Given the description of an element on the screen output the (x, y) to click on. 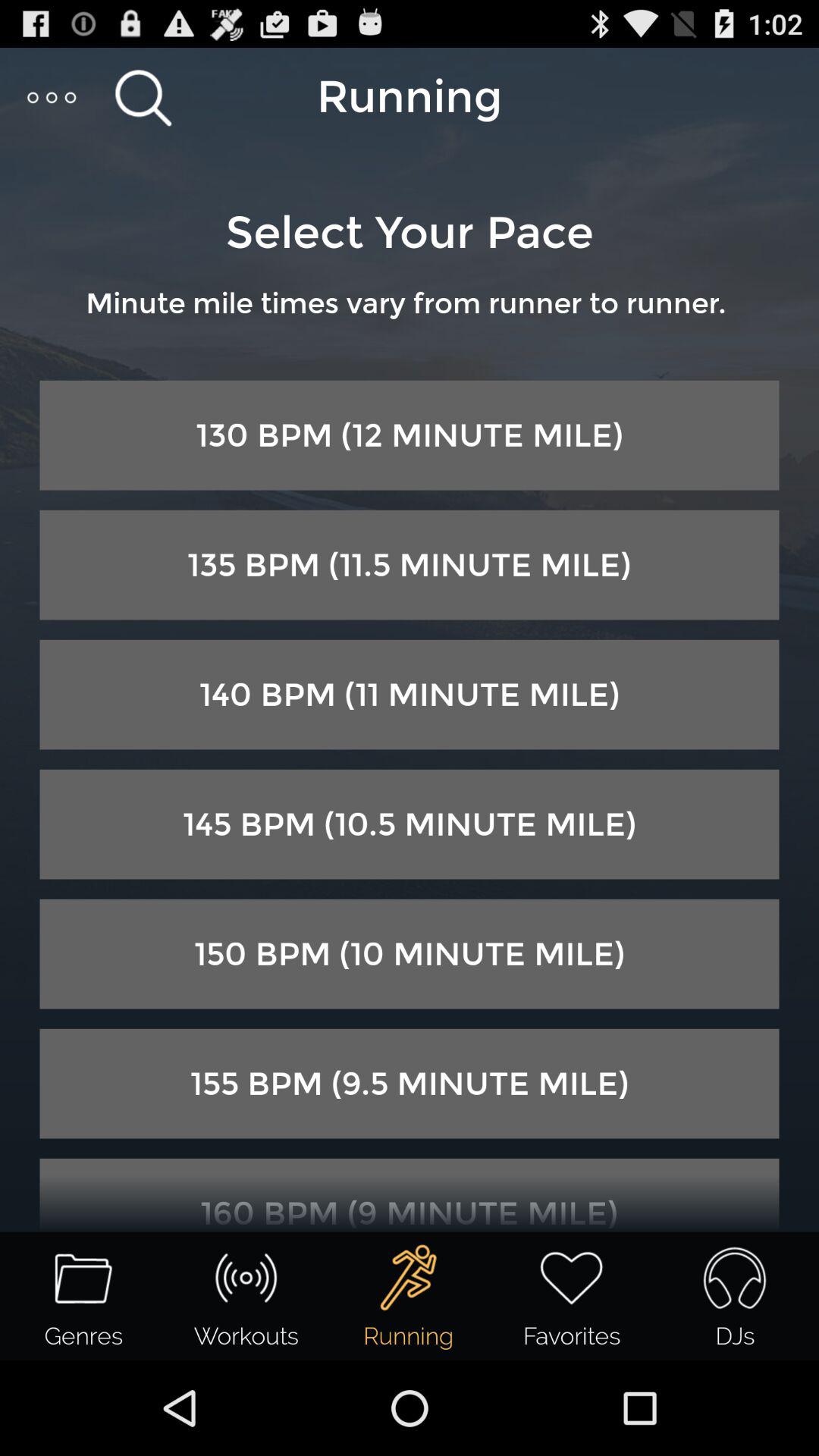
search (142, 97)
